Given the description of an element on the screen output the (x, y) to click on. 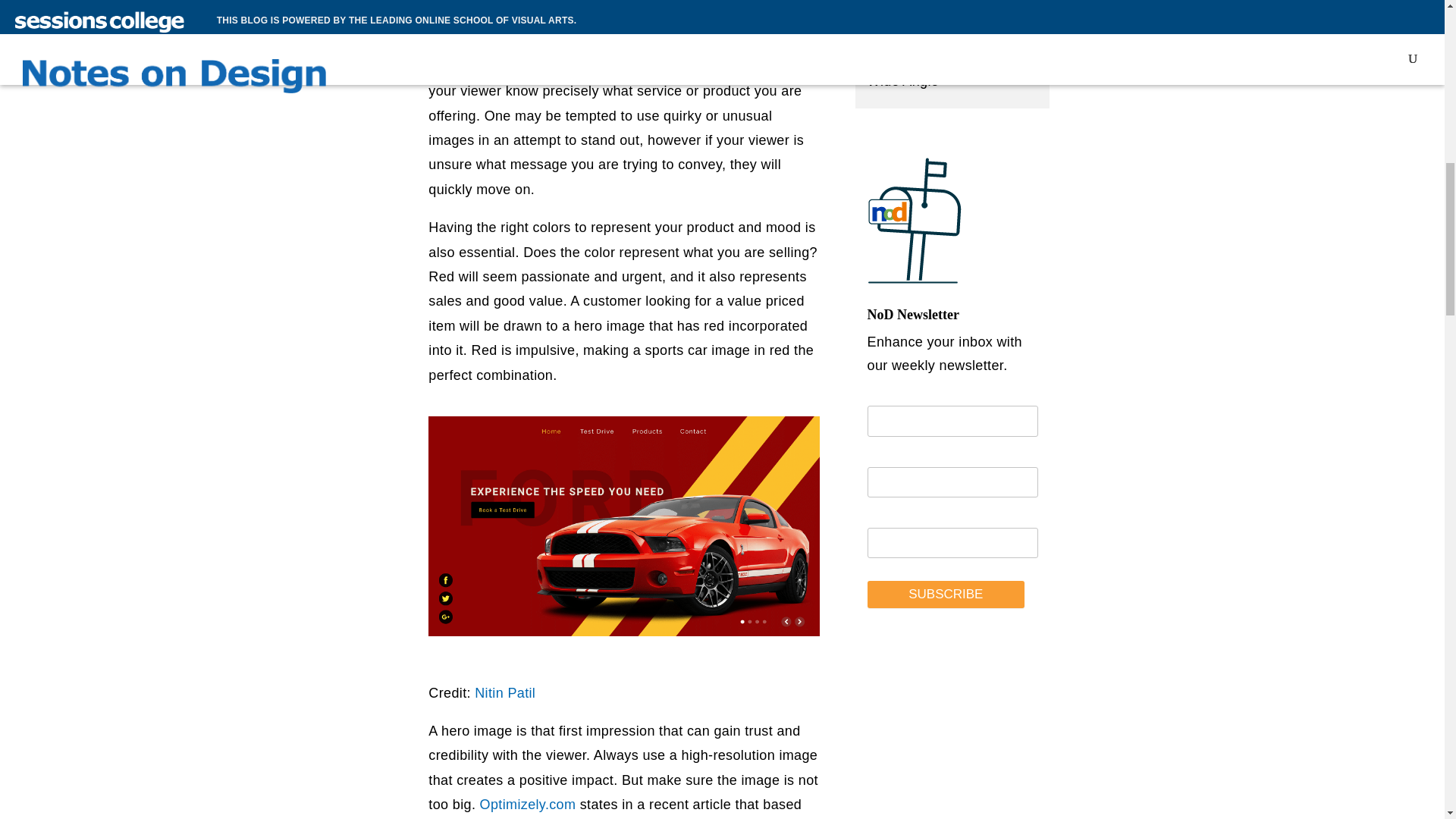
 SUBSCRIBE  (946, 594)
